Given the description of an element on the screen output the (x, y) to click on. 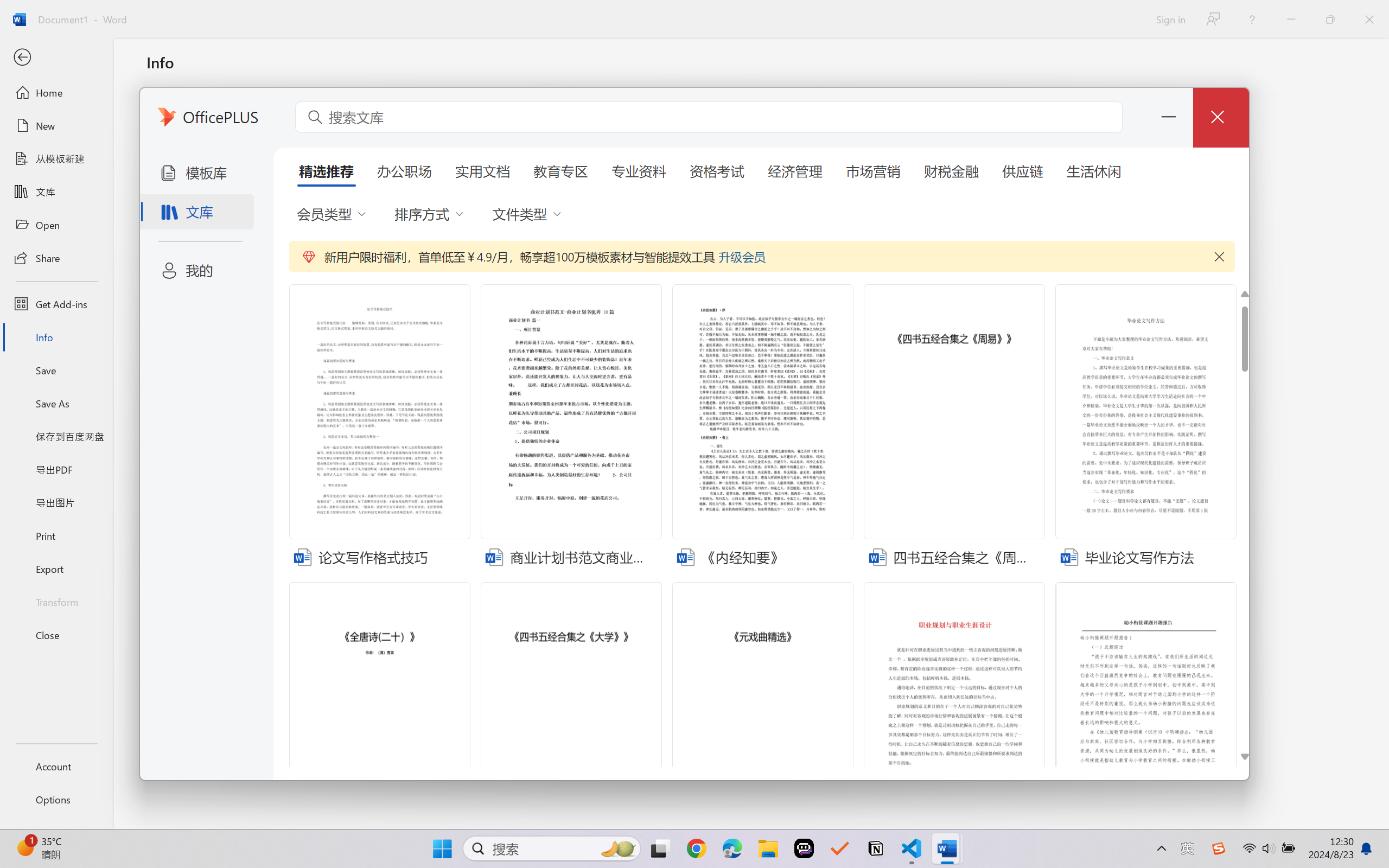
Save As (56, 403)
Get Add-ins (56, 303)
